Given the description of an element on the screen output the (x, y) to click on. 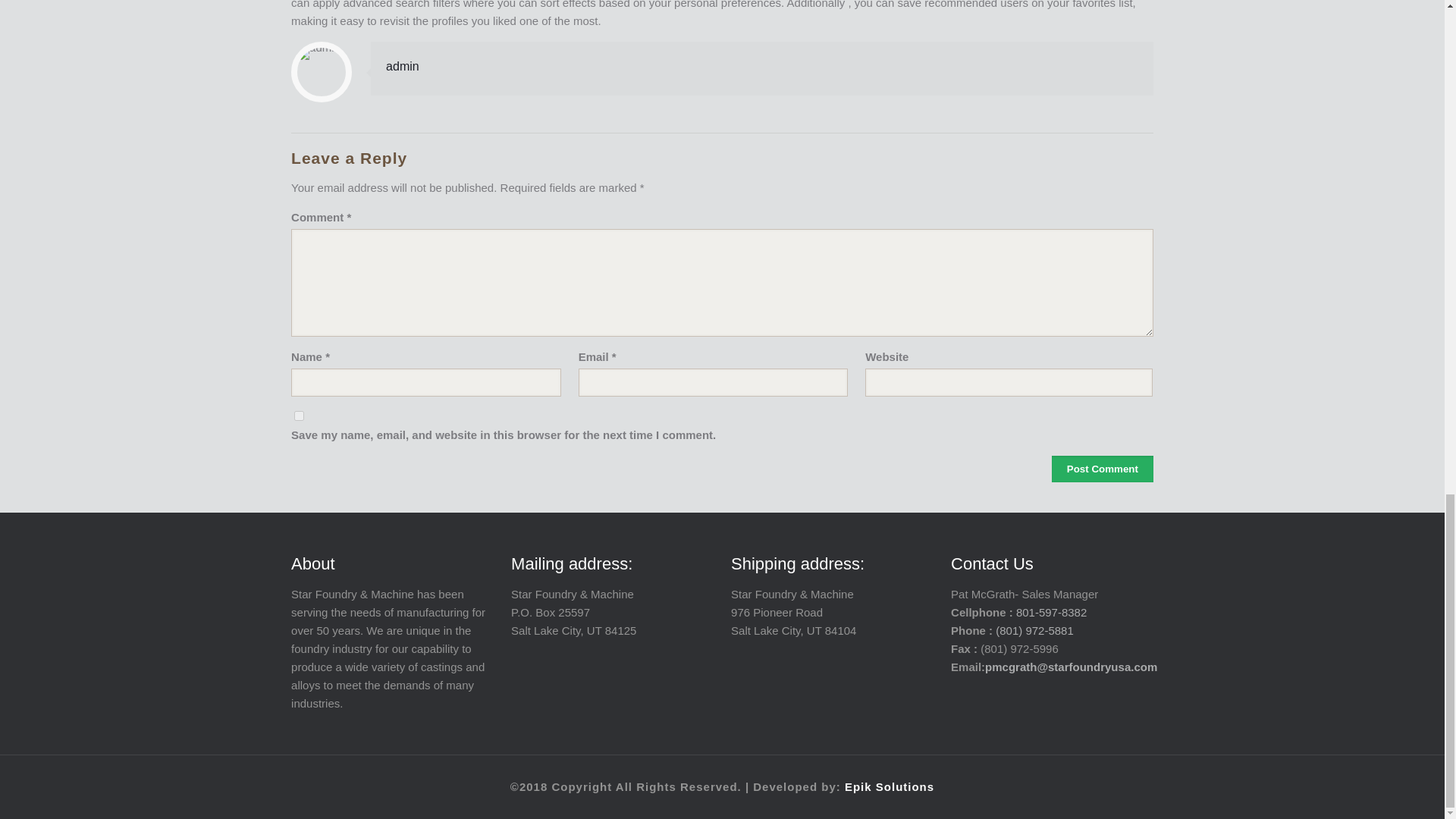
Epik Solutions (889, 786)
801-597-8382 (1051, 612)
Post Comment (1102, 468)
yes (299, 415)
Post Comment (1102, 468)
admin (402, 65)
